Given the description of an element on the screen output the (x, y) to click on. 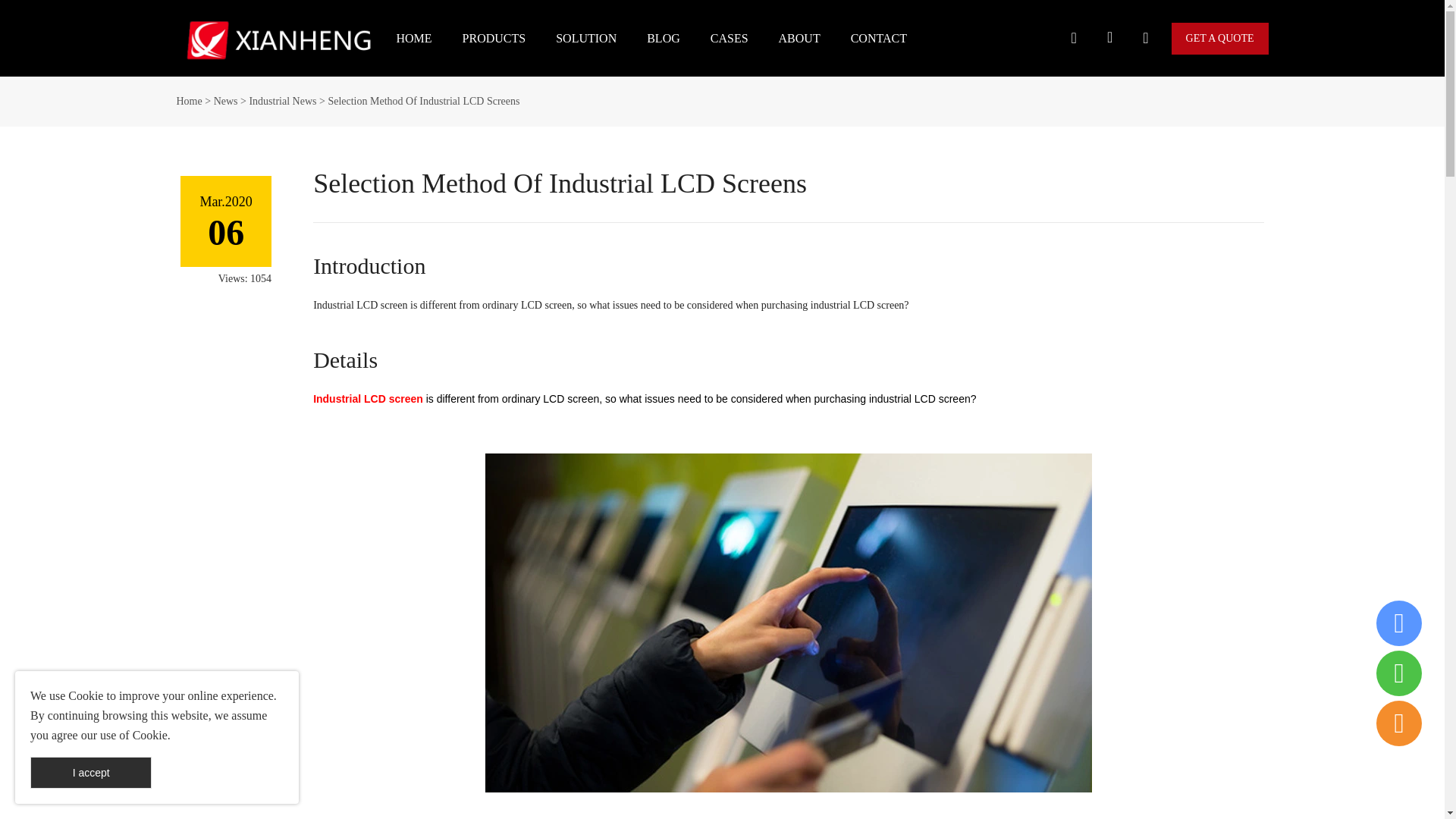
I accept (90, 772)
